Given the description of an element on the screen output the (x, y) to click on. 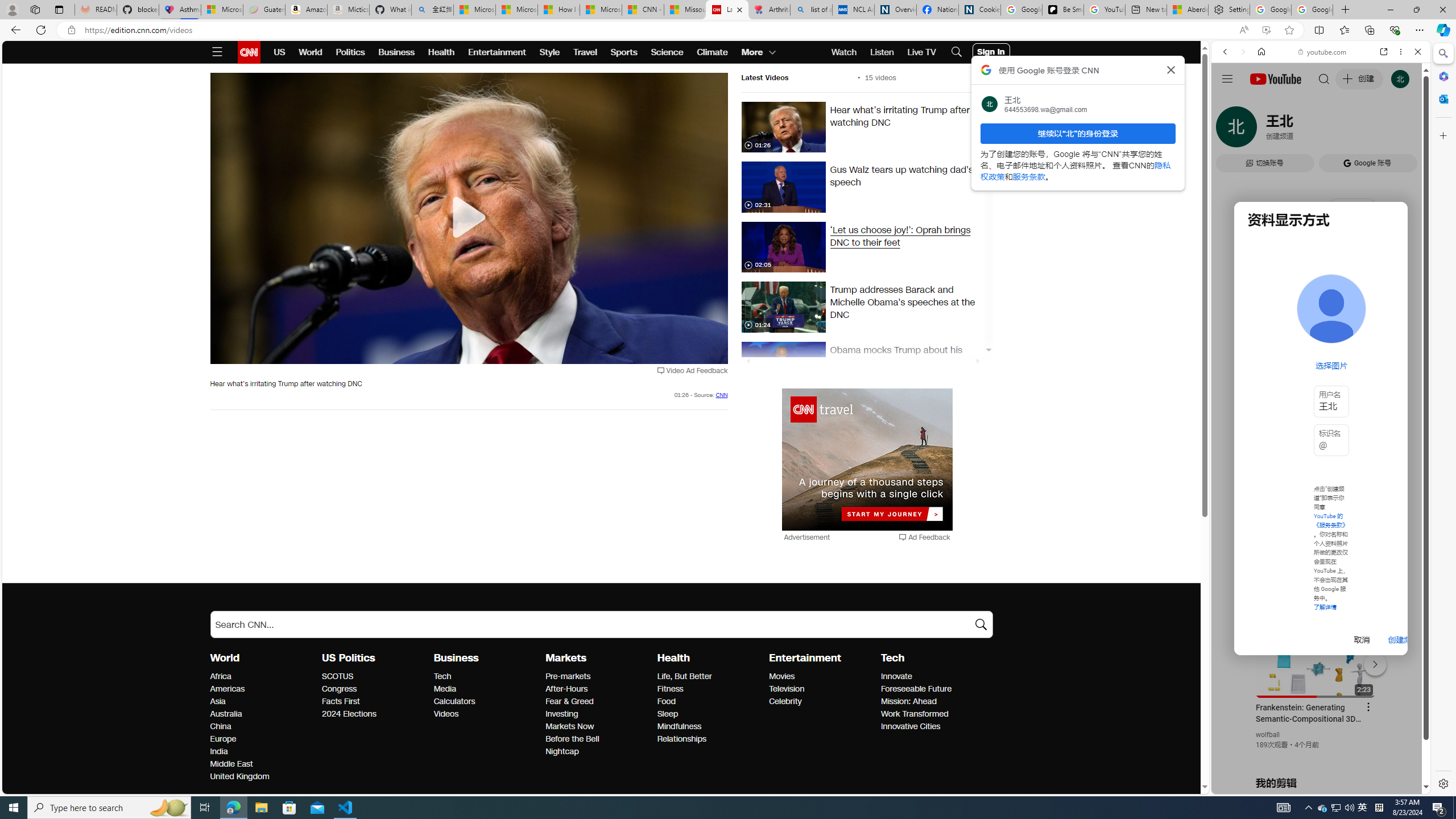
Innovate (932, 676)
Markets Fear & Greed (570, 701)
Cookies (979, 9)
US[ju] (1249, 785)
Relationships (709, 739)
Entertainment Celebrity (785, 701)
CNN - MSN (642, 9)
Life, But Better (709, 676)
World Asia (217, 701)
